Given the description of an element on the screen output the (x, y) to click on. 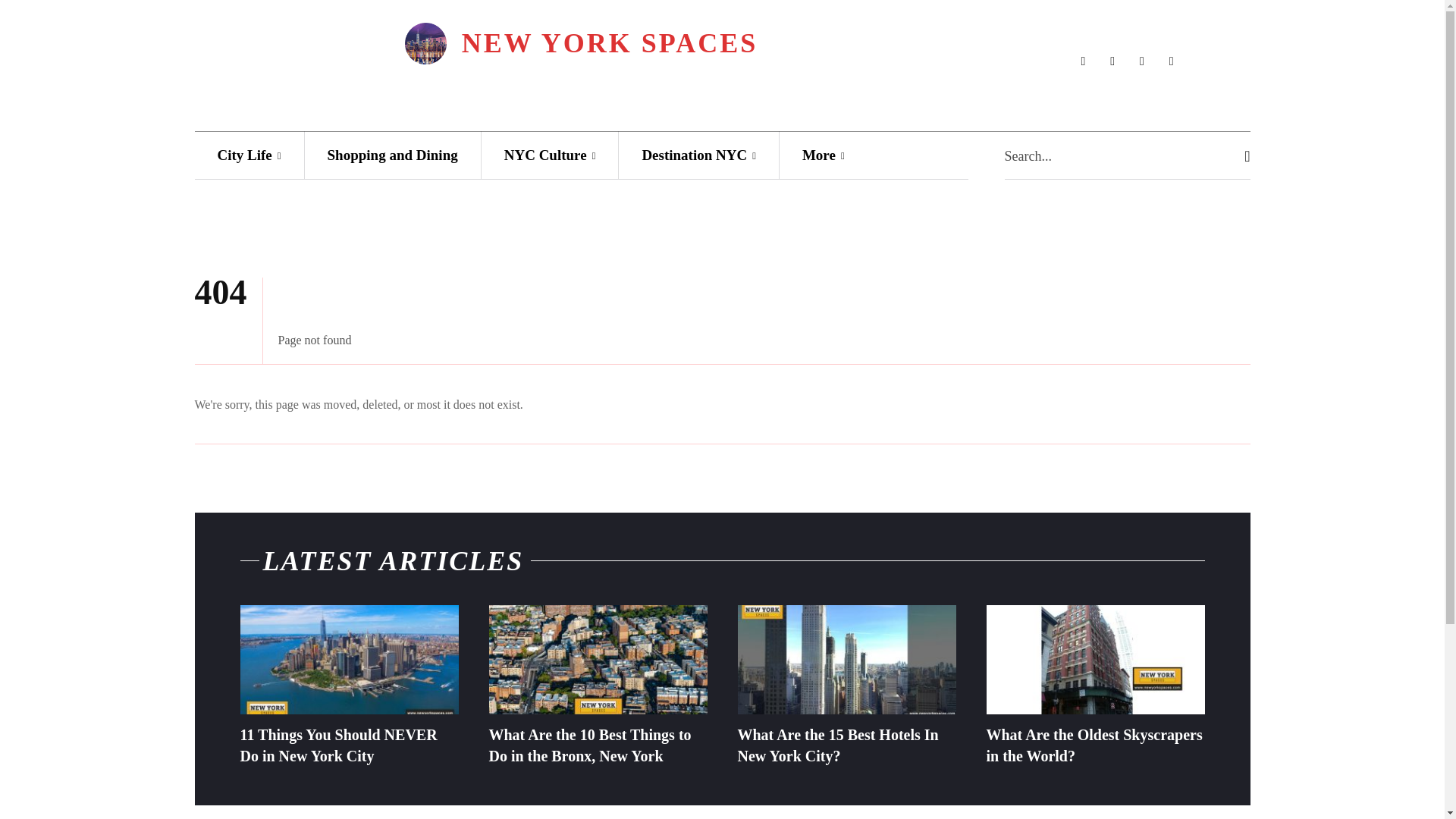
What Are the 15 Best Hotels In New York City? (836, 745)
11 Things You Should NEVER Do in New York City (338, 745)
Twitter (1171, 61)
newyorkspaces (580, 43)
City Life (247, 155)
What Are the 10 Best Things to Do in the Bronx, New York (596, 659)
11 Things You Should NEVER Do in New York City (349, 659)
What Are the Oldest Skyscrapers in the World? (1094, 659)
NEW YORK SPACES (580, 43)
What Are the 15 Best Hotels In New York City? (845, 659)
Facebook (1082, 61)
newyorkspaces (425, 43)
What Are the Oldest Skyscrapers in the World? (1093, 745)
Instagram (1113, 61)
What Are the 10 Best Things to Do in the Bronx, New York (588, 745)
